Given the description of an element on the screen output the (x, y) to click on. 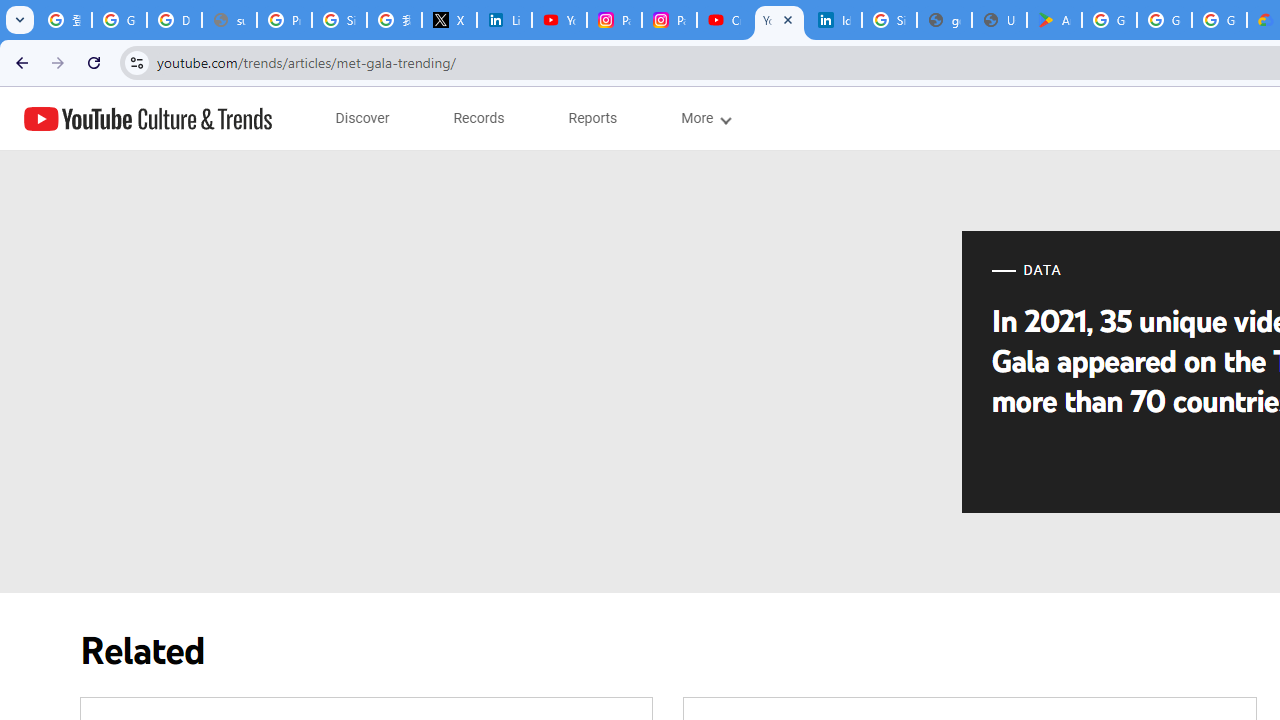
User Details (998, 20)
Google Workspace - Specific Terms (1163, 20)
X (449, 20)
subnav-Discover menupopup (362, 118)
subnav-Records menupopup (479, 118)
